Given the description of an element on the screen output the (x, y) to click on. 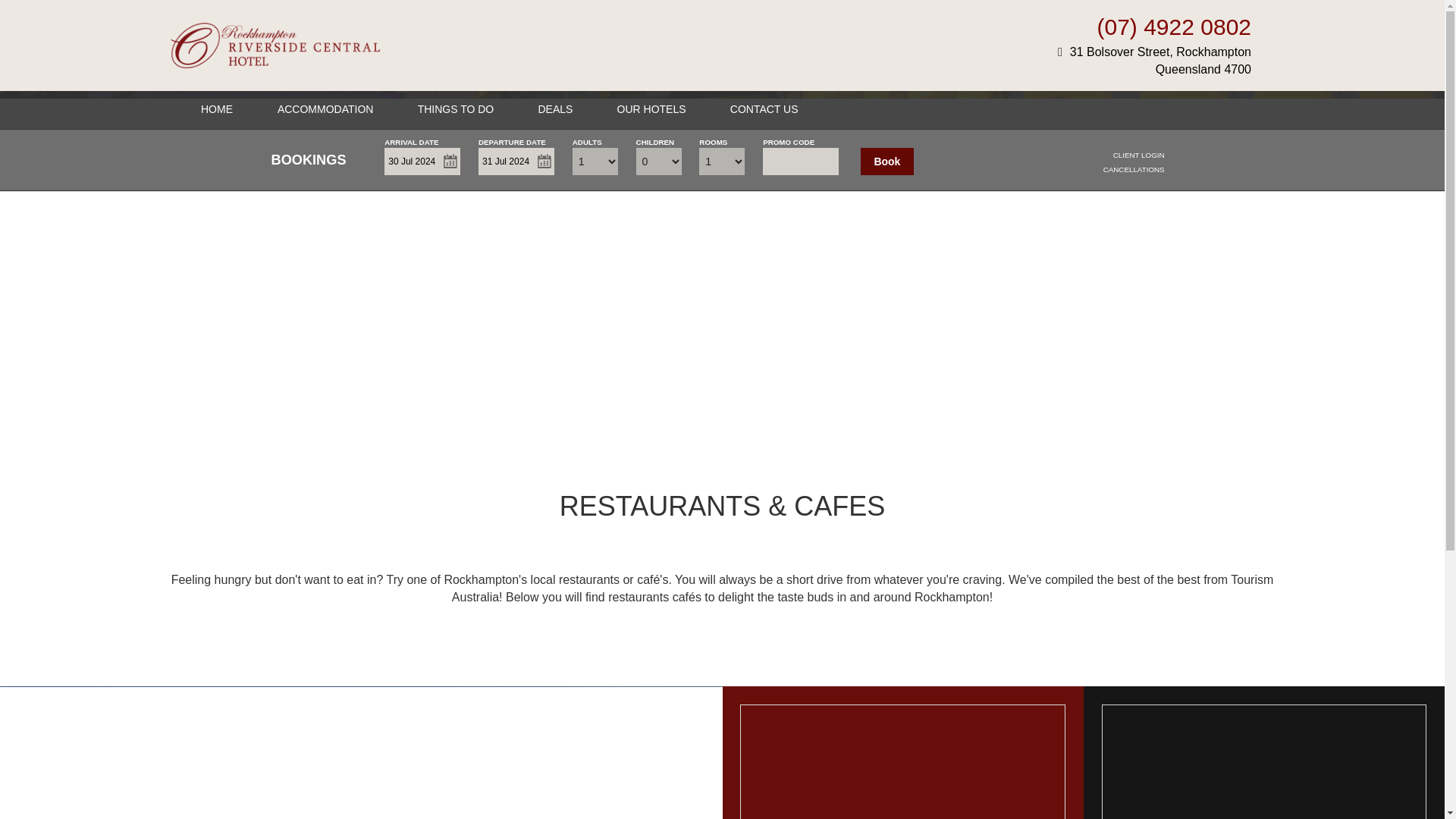
THINGS TO DO (1154, 60)
31 Jul 2024 (456, 108)
DEALS (516, 161)
ACCOMMODATION (554, 108)
OUR HOTELS (326, 108)
30 Jul 2024 (651, 108)
